Given the description of an element on the screen output the (x, y) to click on. 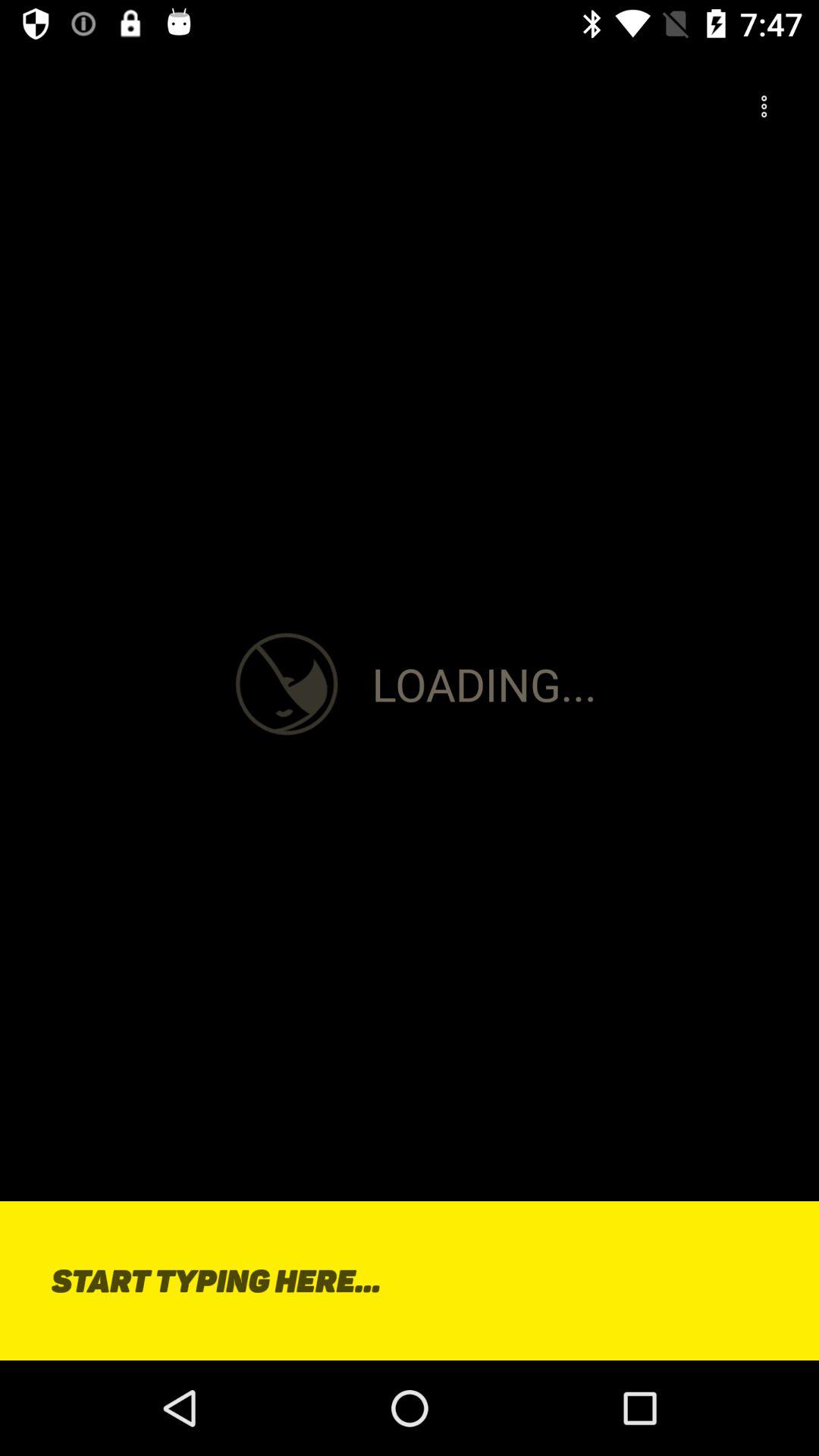
turn off the start typing here... (409, 1280)
